Given the description of an element on the screen output the (x, y) to click on. 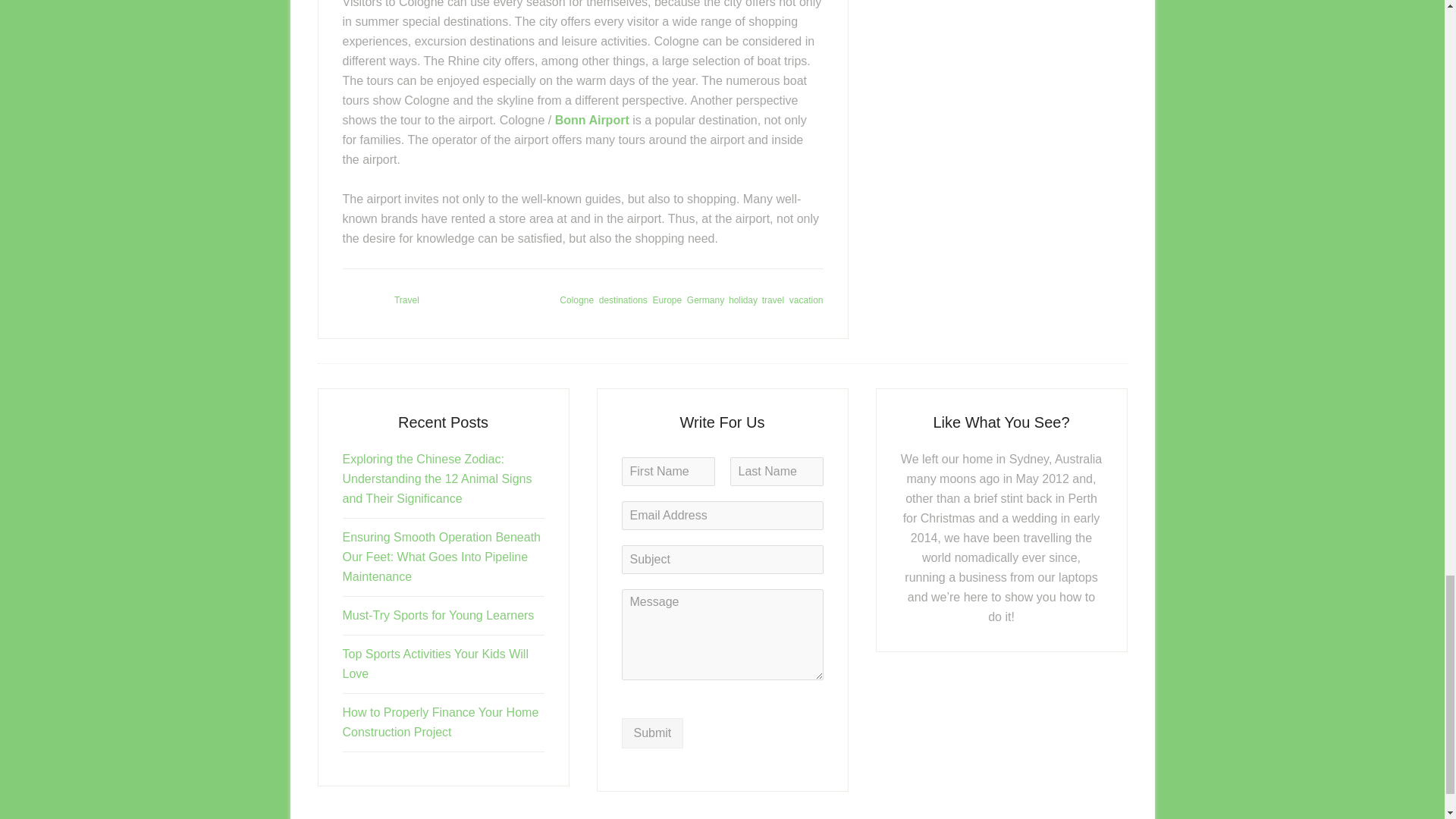
Bonn Airport (591, 119)
Cologne (576, 299)
Germany (705, 299)
holiday (743, 299)
Europe (666, 299)
destinations (622, 299)
Travel (406, 299)
travel (772, 299)
vacation (806, 299)
